Given the description of an element on the screen output the (x, y) to click on. 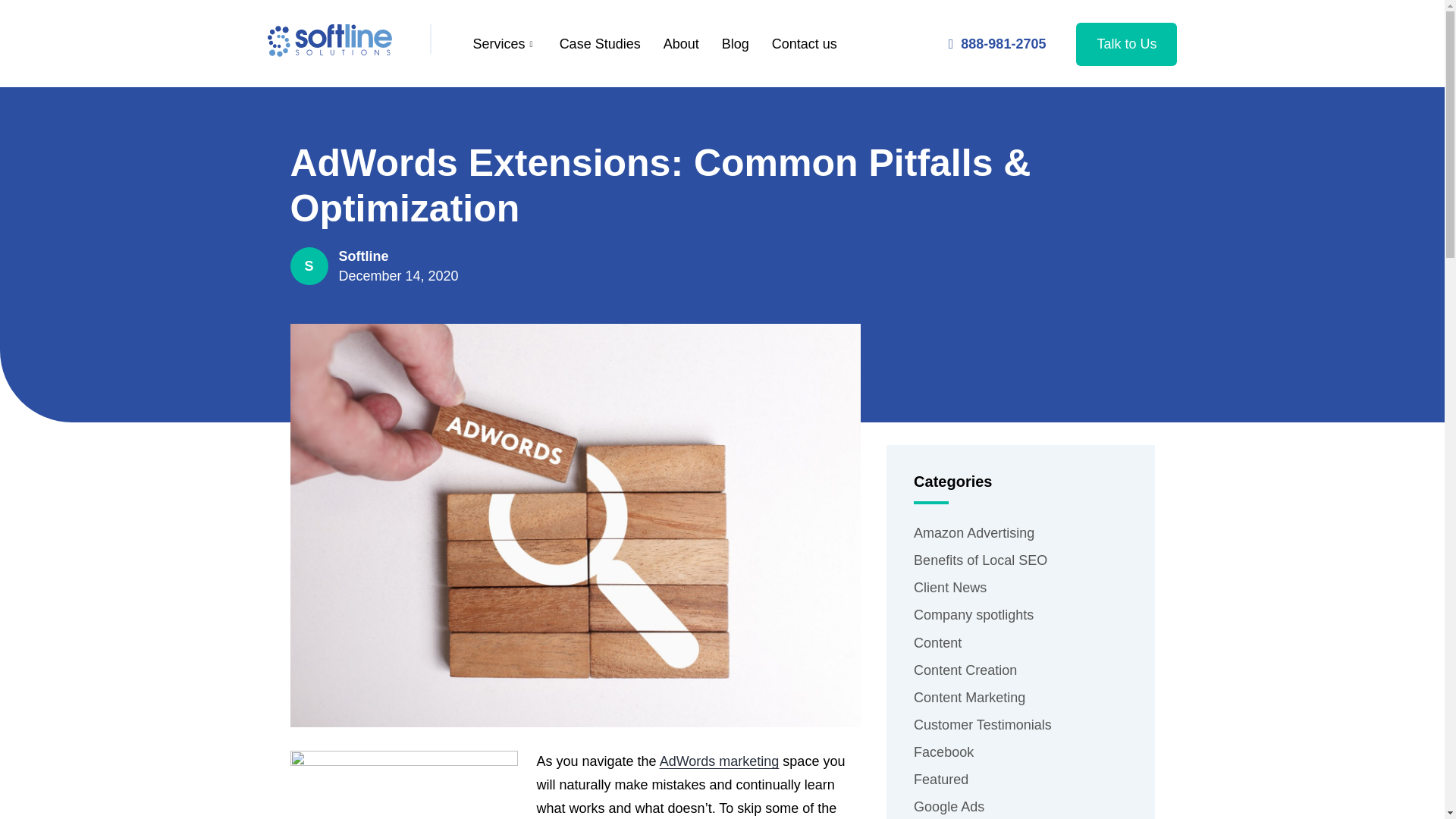
Content (1020, 646)
Benefits of Local SEO (1020, 564)
Amazon Advertising (1020, 536)
Company spotlights (1020, 618)
Case Studies (599, 43)
Talk to Us (1125, 44)
Content Creation (1020, 673)
Content Marketing (1020, 700)
888-981-2705 (997, 43)
Client News (1020, 591)
